Given the description of an element on the screen output the (x, y) to click on. 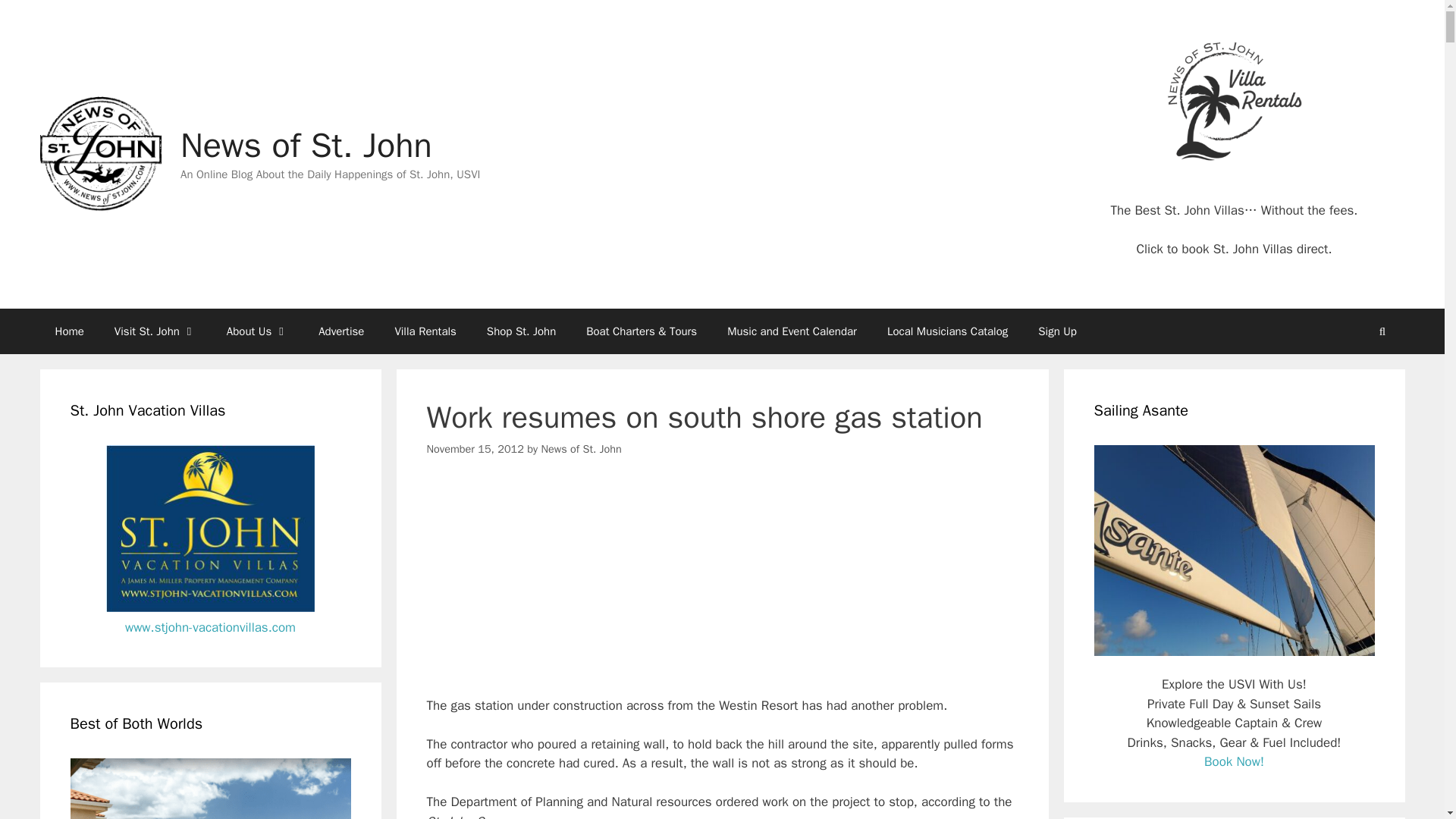
Search (1382, 330)
8:57 am (474, 448)
View all posts by News of St. John (580, 448)
News of St. John (99, 153)
Advertisement (721, 590)
Villa Rentals (424, 330)
Sign Up (1057, 330)
Music and Event Calendar (791, 330)
Visit St. John (155, 330)
About Us (256, 330)
News of St. John (580, 448)
Home (69, 330)
Click to book St. John Villas direct. (1233, 248)
November 15, 2012 (474, 448)
Local Musicians Catalog (947, 330)
